Given the description of an element on the screen output the (x, y) to click on. 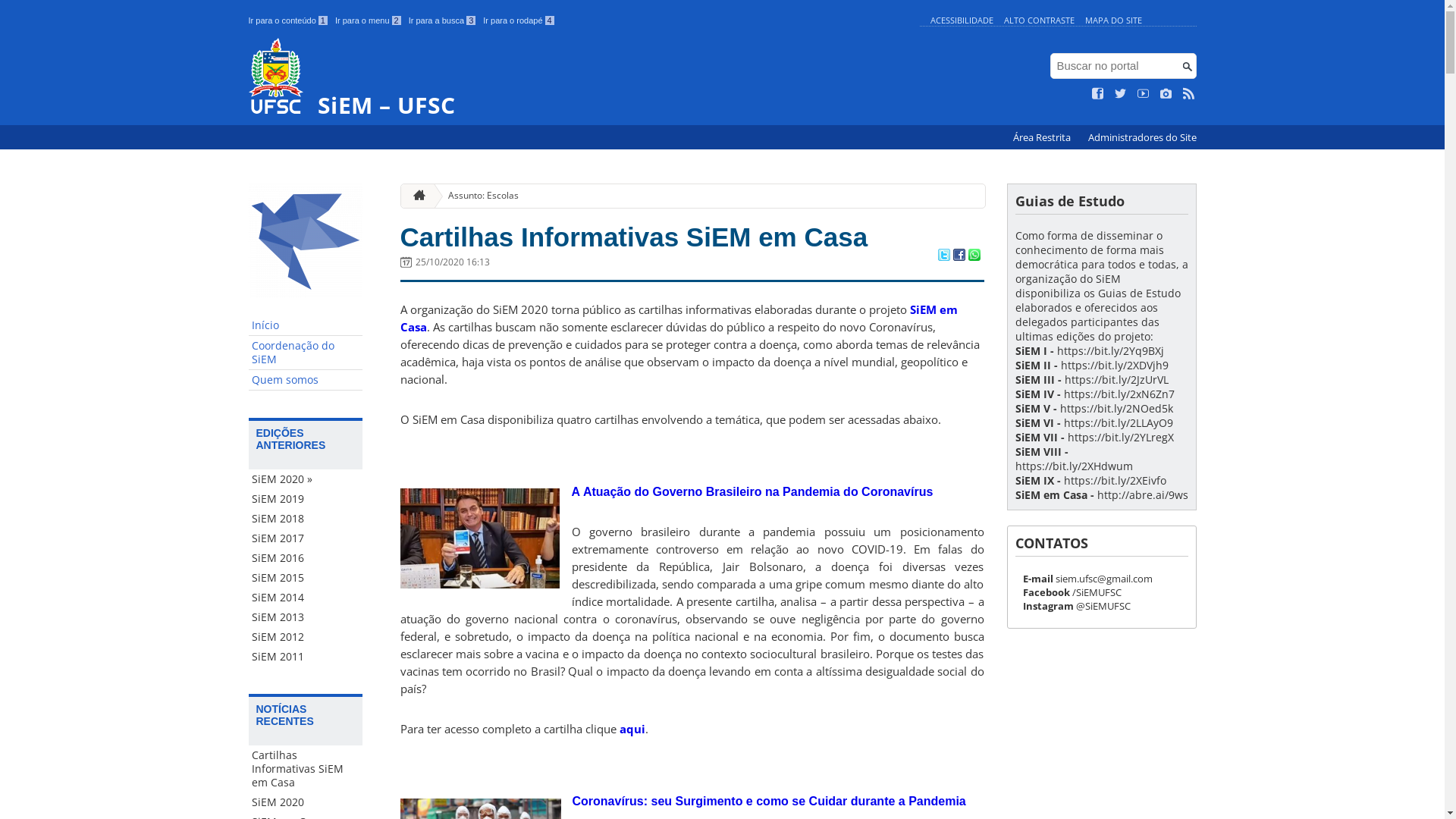
ALTO CONTRASTE Element type: text (1039, 19)
ACESSIBILIDADE Element type: text (960, 19)
Administradores do Site Element type: text (1141, 137)
Veja no Instagram Element type: hover (1166, 93)
Compartilhar no Twitter Element type: hover (943, 255)
Siga no Twitter Element type: hover (1120, 93)
Ir para a busca 3 Element type: text (442, 20)
Quem somos Element type: text (305, 380)
SiEM 2015 Element type: text (305, 577)
aqui Element type: text (631, 728)
MAPA DO SITE Element type: text (1112, 19)
SiEM 2020 Element type: text (305, 802)
SiEM 2019 Element type: text (305, 498)
SiEM 2014 Element type: text (305, 597)
SiEM 2013 Element type: text (305, 617)
Cartilhas Informativas SiEM em Casa Element type: text (305, 768)
Cartilhas Informativas SiEM em Casa Element type: text (634, 236)
SiEM 2018 Element type: text (305, 518)
SiEM 2012 Element type: text (305, 636)
SiEM 2017 Element type: text (305, 538)
Compartilhar no WhatsApp Element type: hover (973, 255)
SiEM 2011 Element type: text (305, 656)
SiEM 2016 Element type: text (305, 557)
Assunto: Escolas Element type: text (476, 195)
Curta no Facebook Element type: hover (1098, 93)
Compartilhar no Facebook Element type: hover (958, 255)
SiEM em Casa Element type: text (678, 317)
Ir para o menu 2 Element type: text (368, 20)
